Given the description of an element on the screen output the (x, y) to click on. 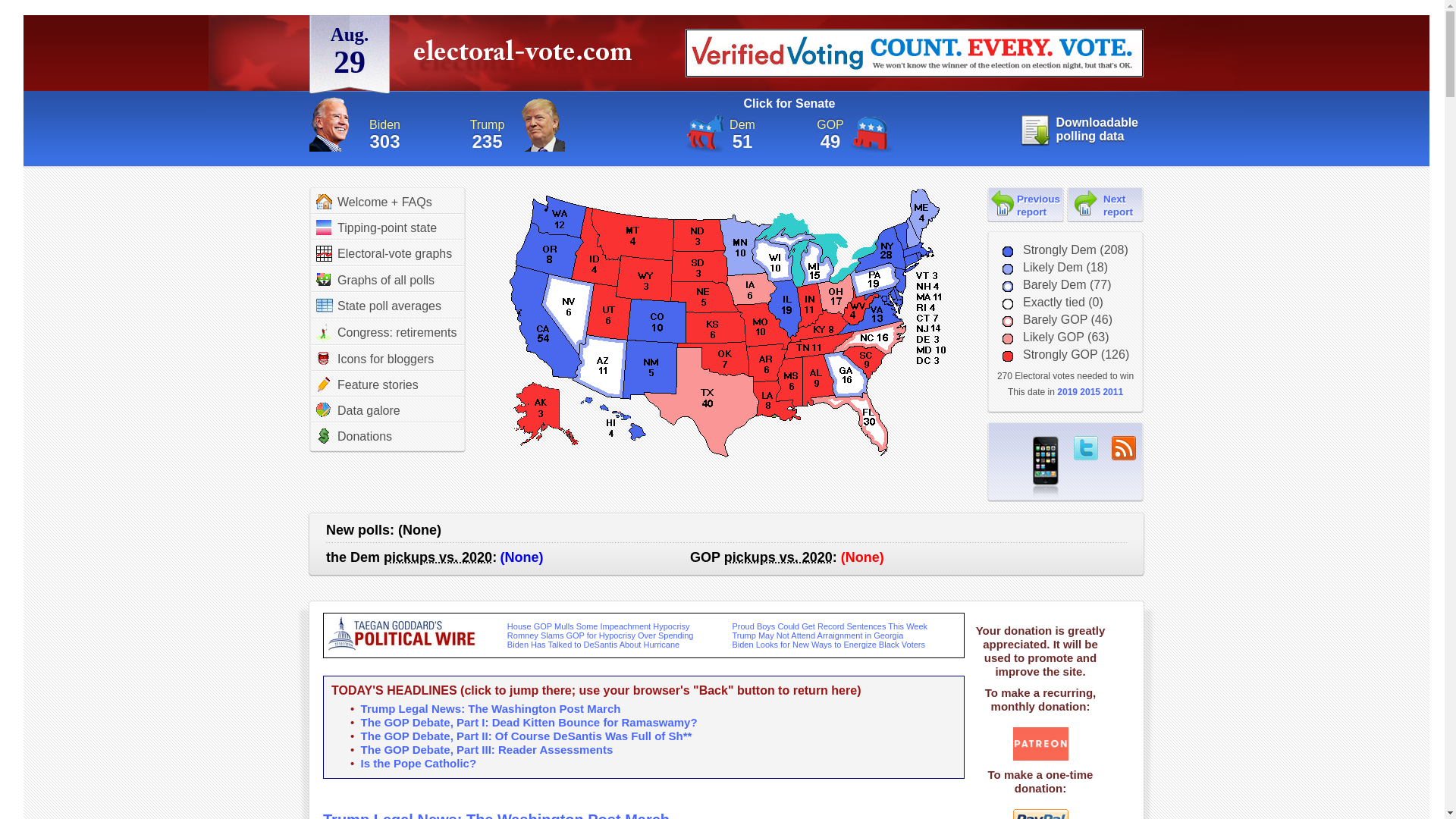
House GOP Mulls Some Impeachment Hypocrisy (598, 625)
Graphs of all polls (374, 279)
Electoral-vote graphs (383, 253)
The GOP Debate, Part III: Reader Assessments (486, 748)
Congress: retirements (386, 332)
Trump Legal News: The Washington Post March (496, 815)
Data galore (357, 409)
electoral-vote.com (526, 56)
State poll averages (378, 305)
Icons for bloggers (374, 358)
Feature stories (367, 384)
Donations (353, 435)
Previous report (1026, 204)
2019 (1067, 391)
2015 (1090, 391)
